Given the description of an element on the screen output the (x, y) to click on. 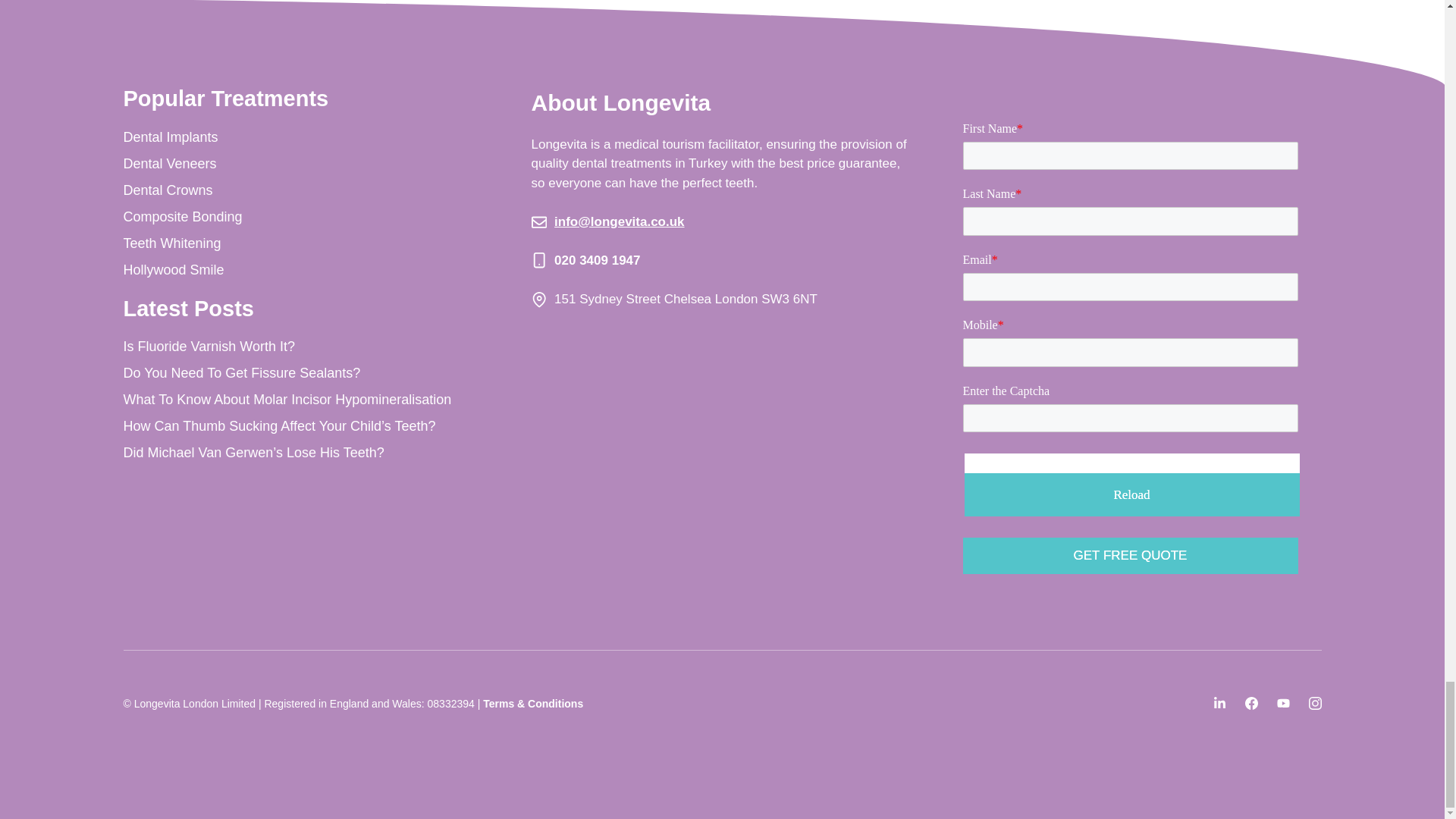
GET FREE QUOTE (1130, 555)
Submit (1130, 555)
